Given the description of an element on the screen output the (x, y) to click on. 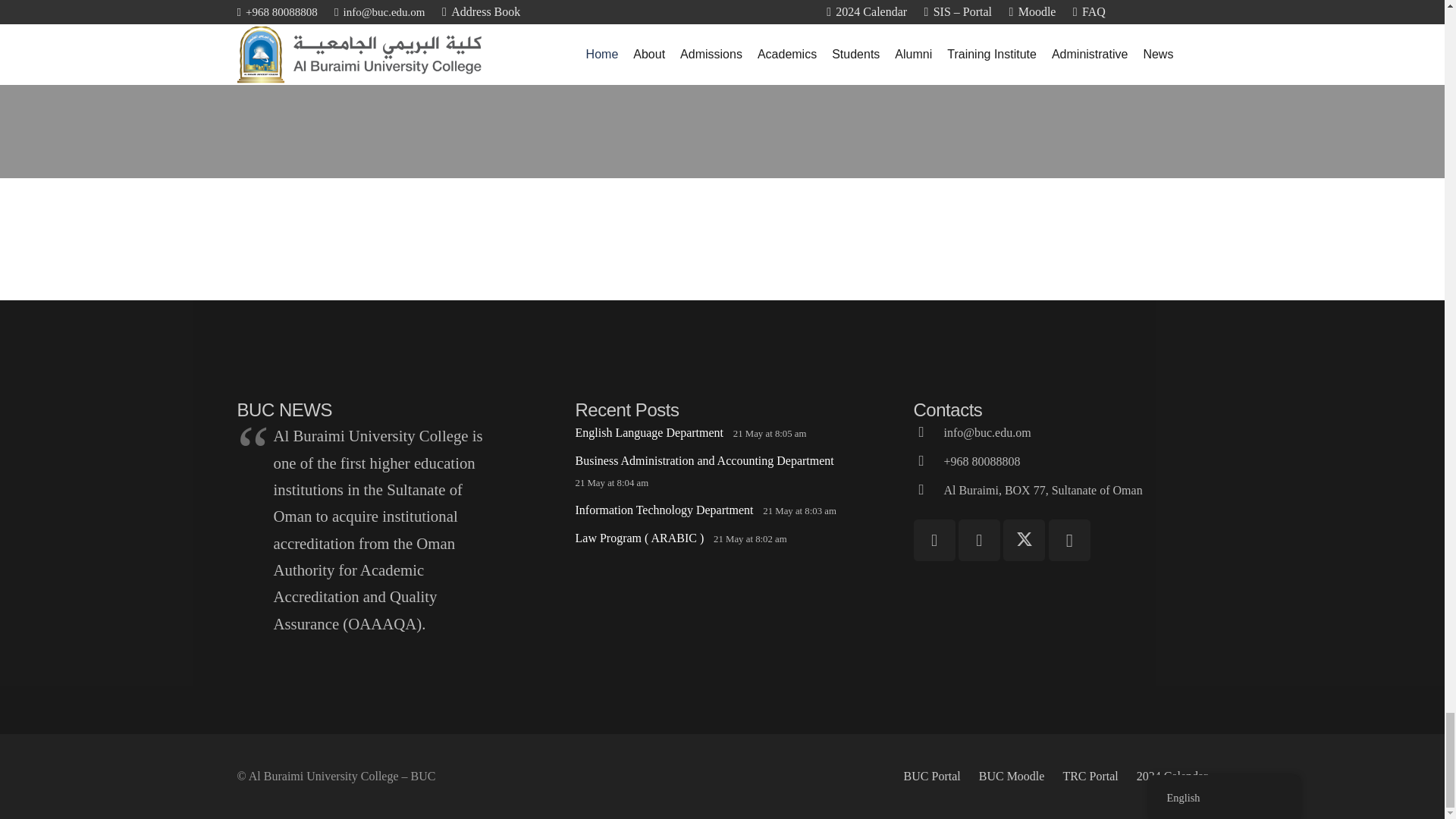
YouTube (979, 540)
Twitter (1024, 540)
Facebook (933, 540)
Instagram (1069, 540)
